Given the description of an element on the screen output the (x, y) to click on. 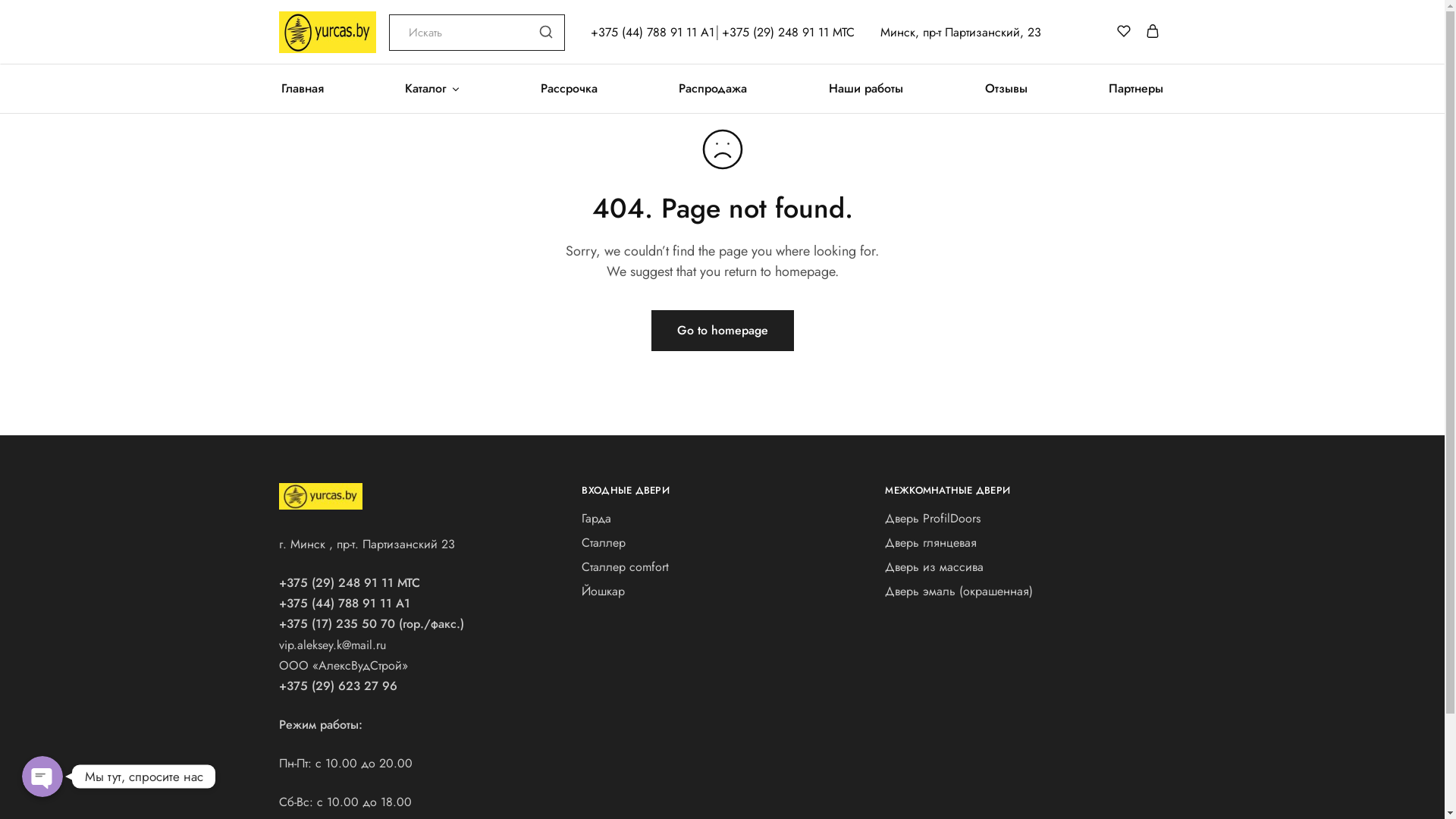
+375 (44) 788 91 11 A1 Element type: text (651, 31)
Go to homepage Element type: text (721, 330)
+375 (44) 788 91 11 Element type: text (335, 602)
+375 (17) 235 50 70 Element type: text (337, 623)
+375 (29) 623 27 96 Element type: text (338, 685)
+375 (29) 248 91 11 Element type: text (336, 582)
